Given the description of an element on the screen output the (x, y) to click on. 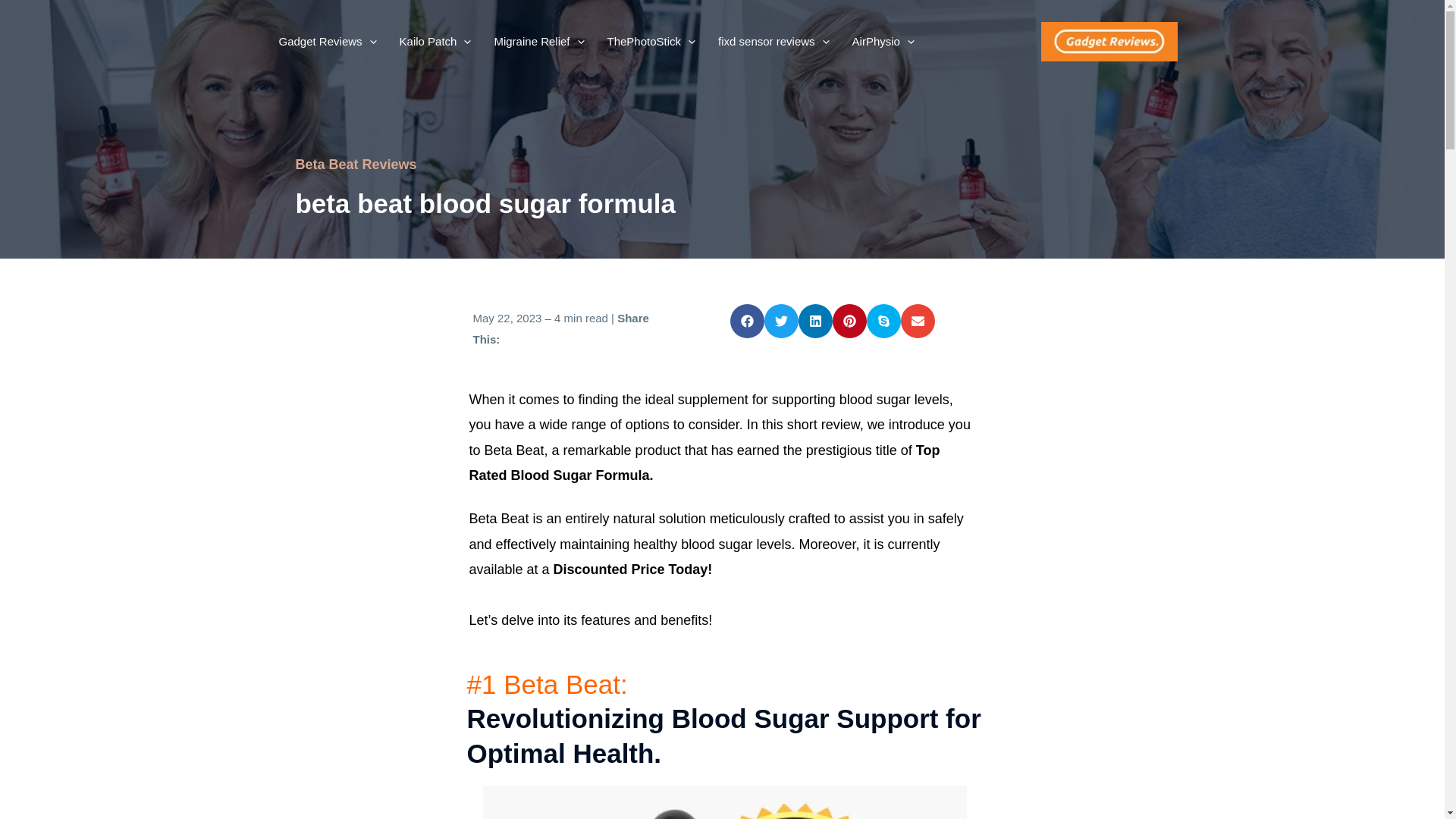
Gadget Reviews (326, 41)
Migraine Relief (538, 41)
ThePhotoStick (651, 41)
AirPhysio (883, 41)
fixd sensor reviews (773, 41)
Kailo Patch (435, 41)
